Given the description of an element on the screen output the (x, y) to click on. 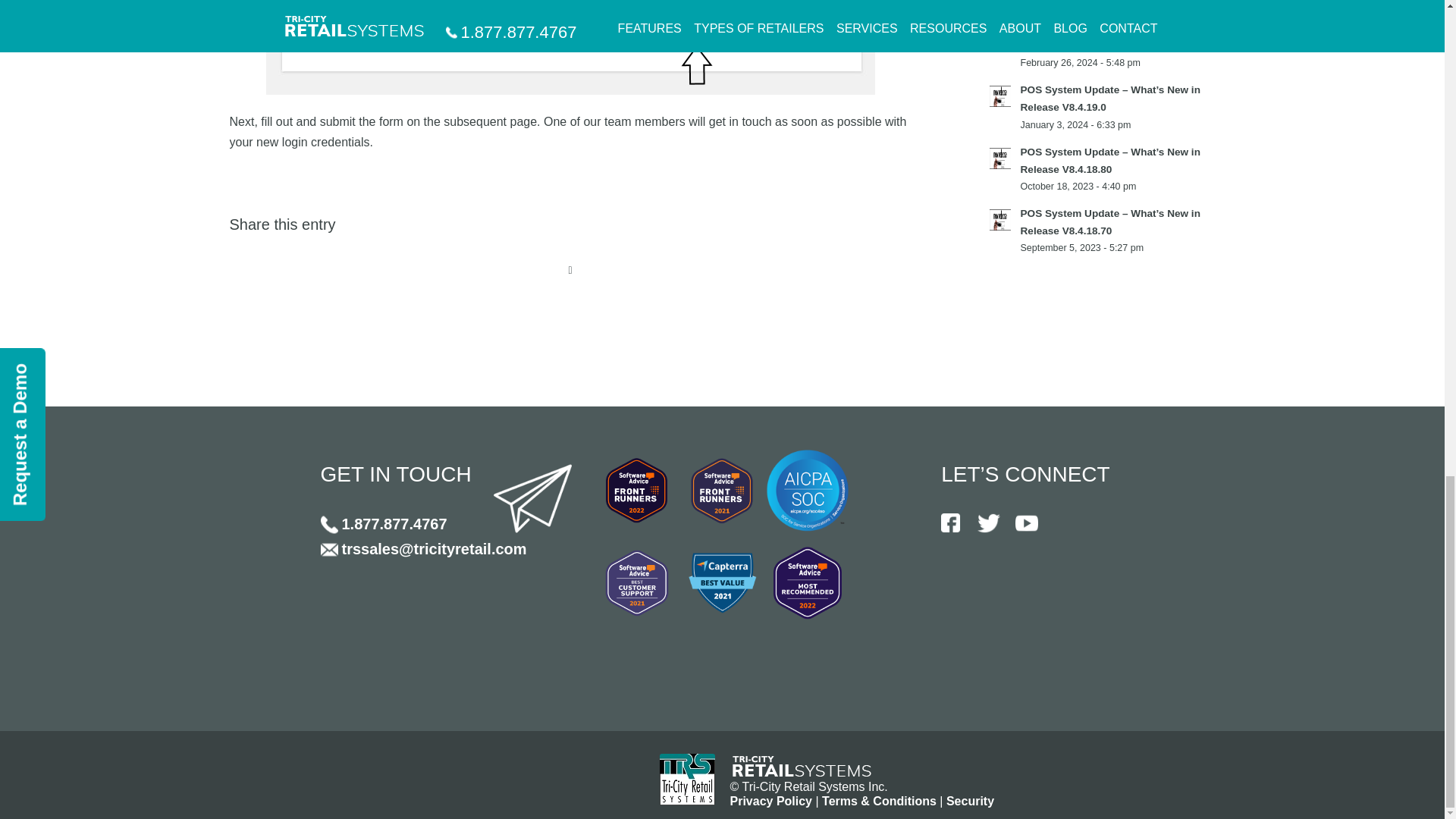
1.877.877.4767 (383, 524)
